Given the description of an element on the screen output the (x, y) to click on. 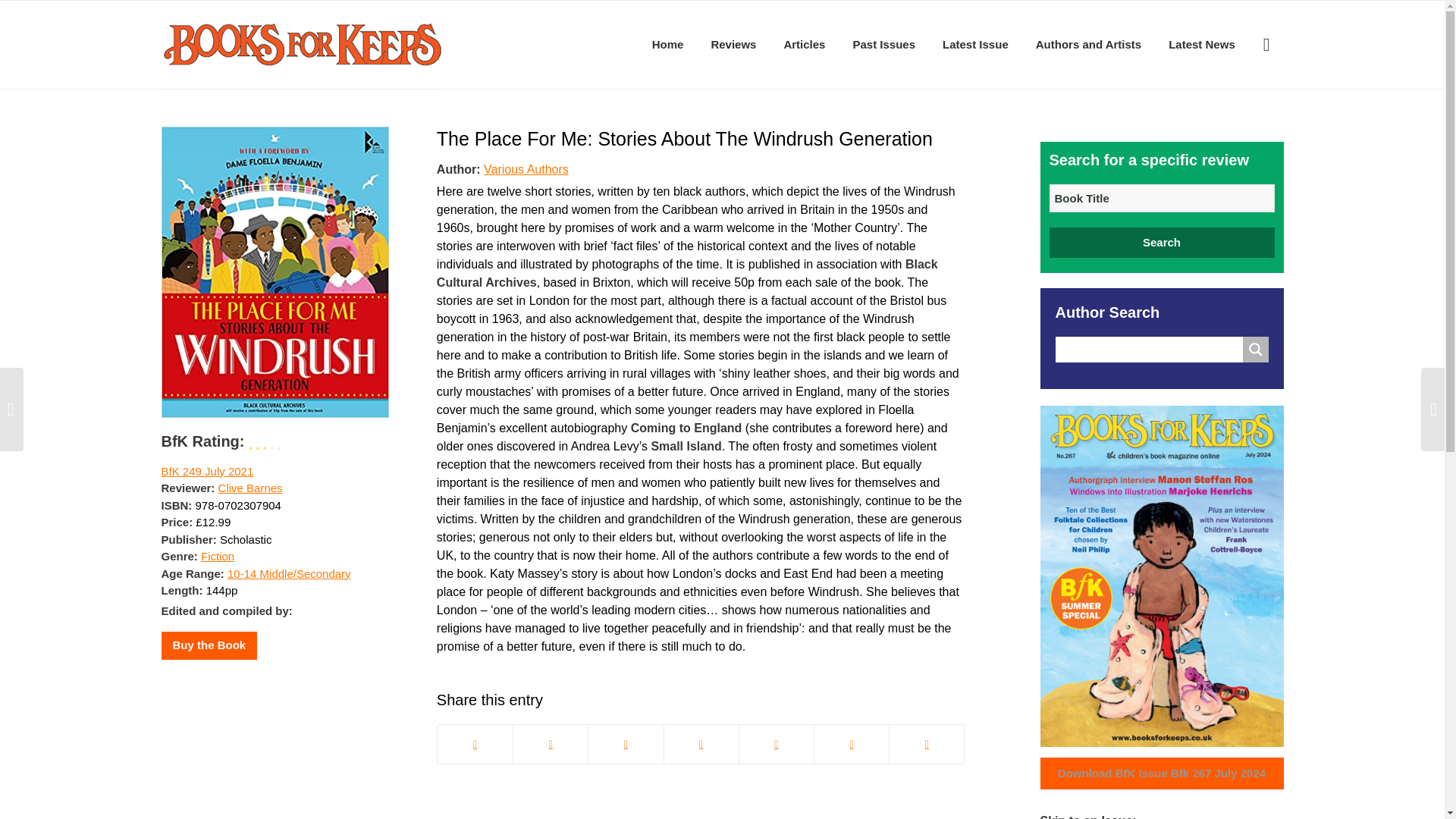
Download BfK Issue Bfk 267 July 2024 (1162, 773)
Search (1162, 242)
Latest News (1201, 44)
Past Issues (883, 44)
Various Authors (526, 168)
The Place For Me: Stories About The Windrush Generation (684, 138)
Articles (804, 44)
Fiction (217, 555)
Authors and Artists (1088, 44)
Home (668, 44)
Clive Barnes (250, 487)
Reviews (733, 44)
Search (1162, 242)
BfK 249 July 2021 (206, 471)
